Given the description of an element on the screen output the (x, y) to click on. 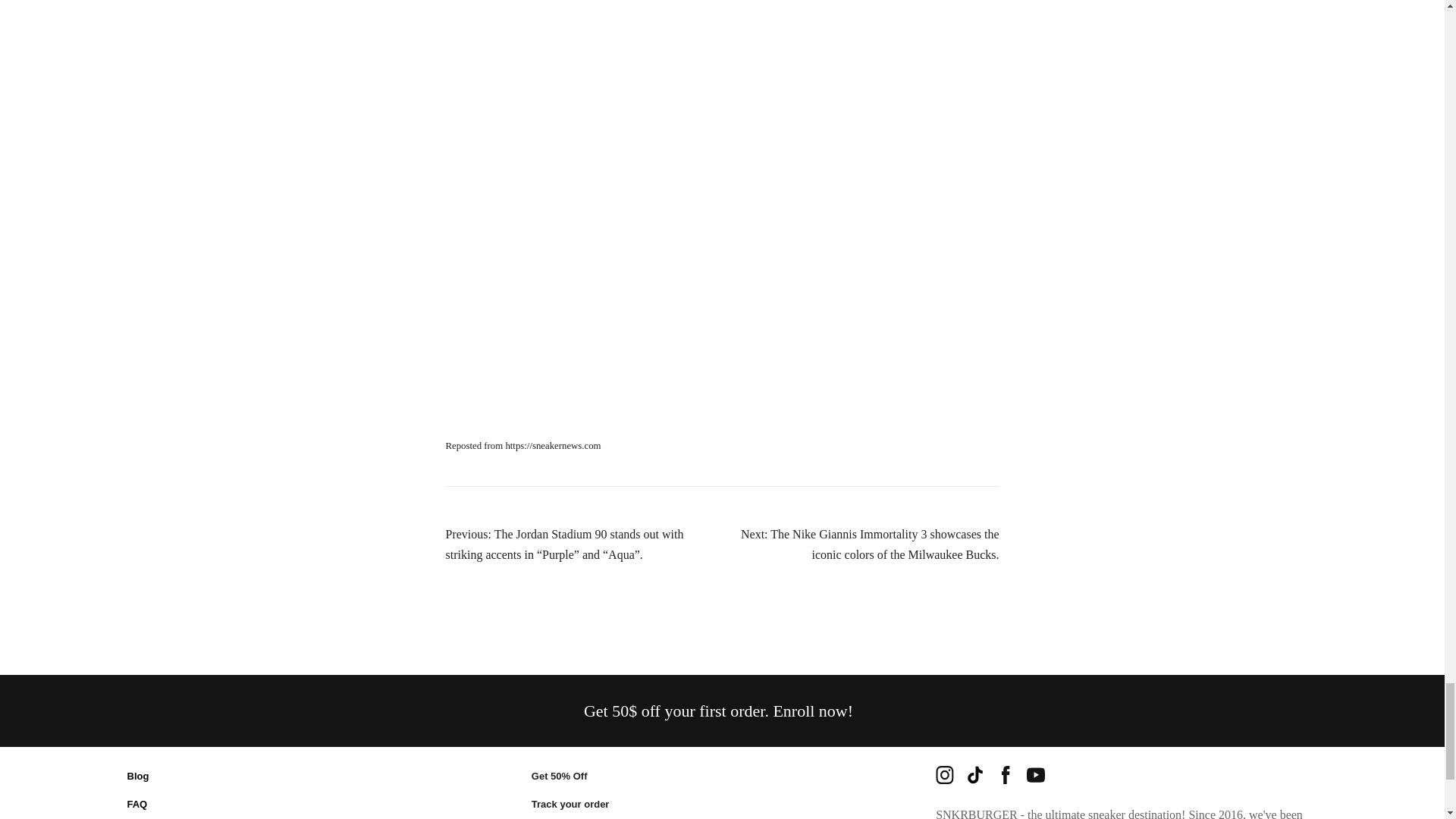
instagram (944, 774)
